Given the description of an element on the screen output the (x, y) to click on. 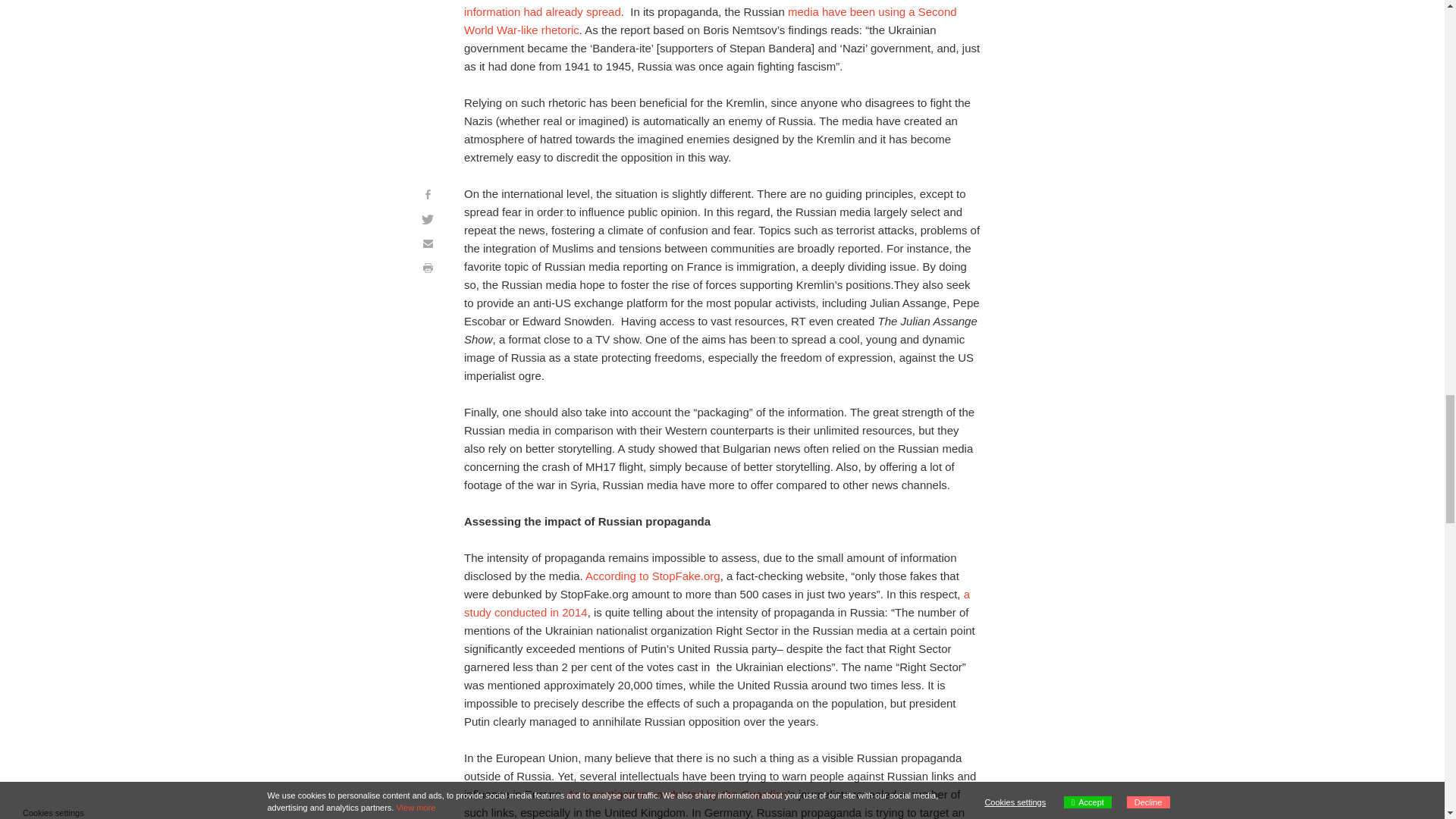
the information had already spread (705, 9)
